Given the description of an element on the screen output the (x, y) to click on. 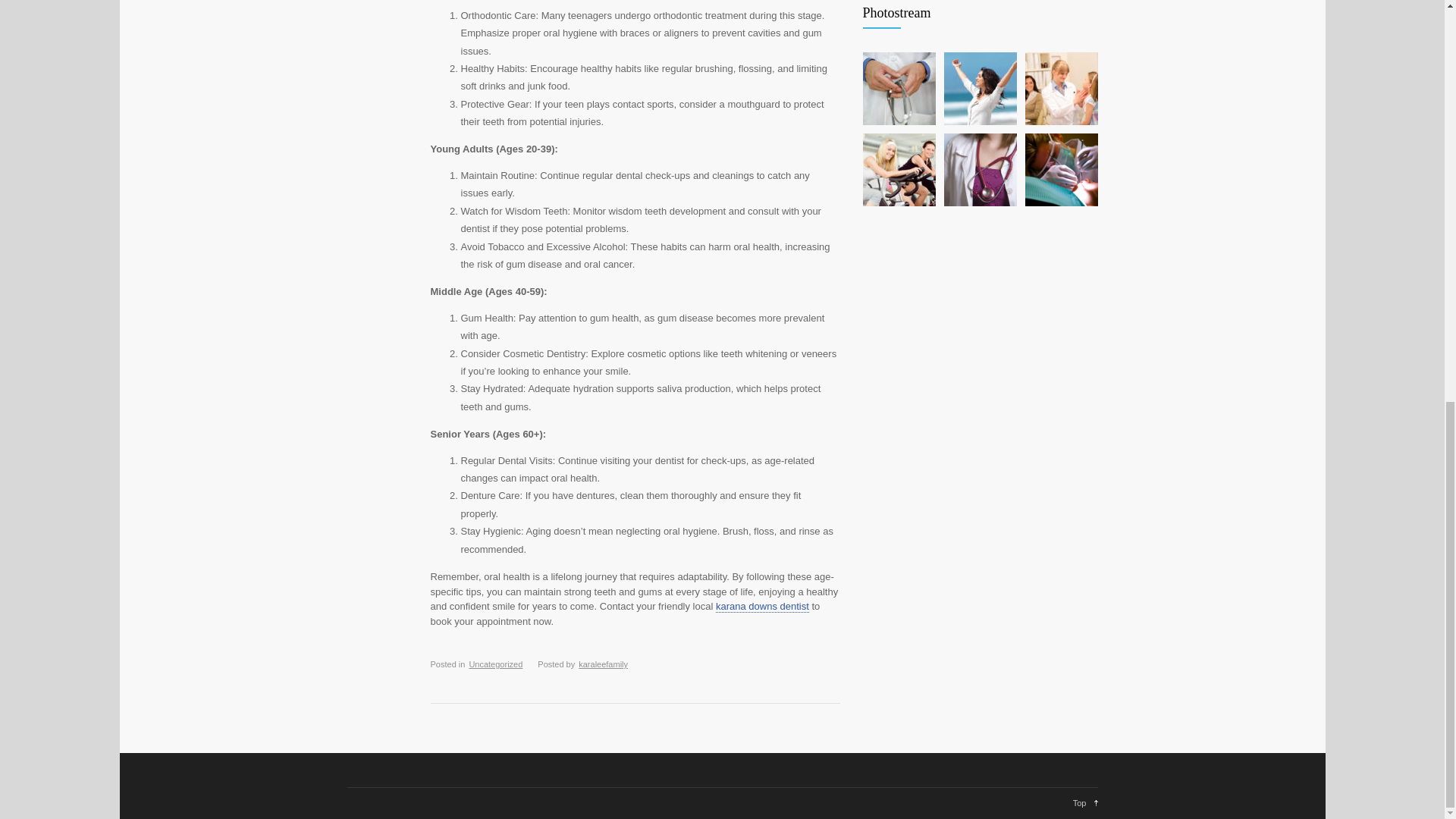
Top (1085, 802)
karaleefamily (602, 664)
View all posts filed under Uncategorized (495, 664)
